Given the description of an element on the screen output the (x, y) to click on. 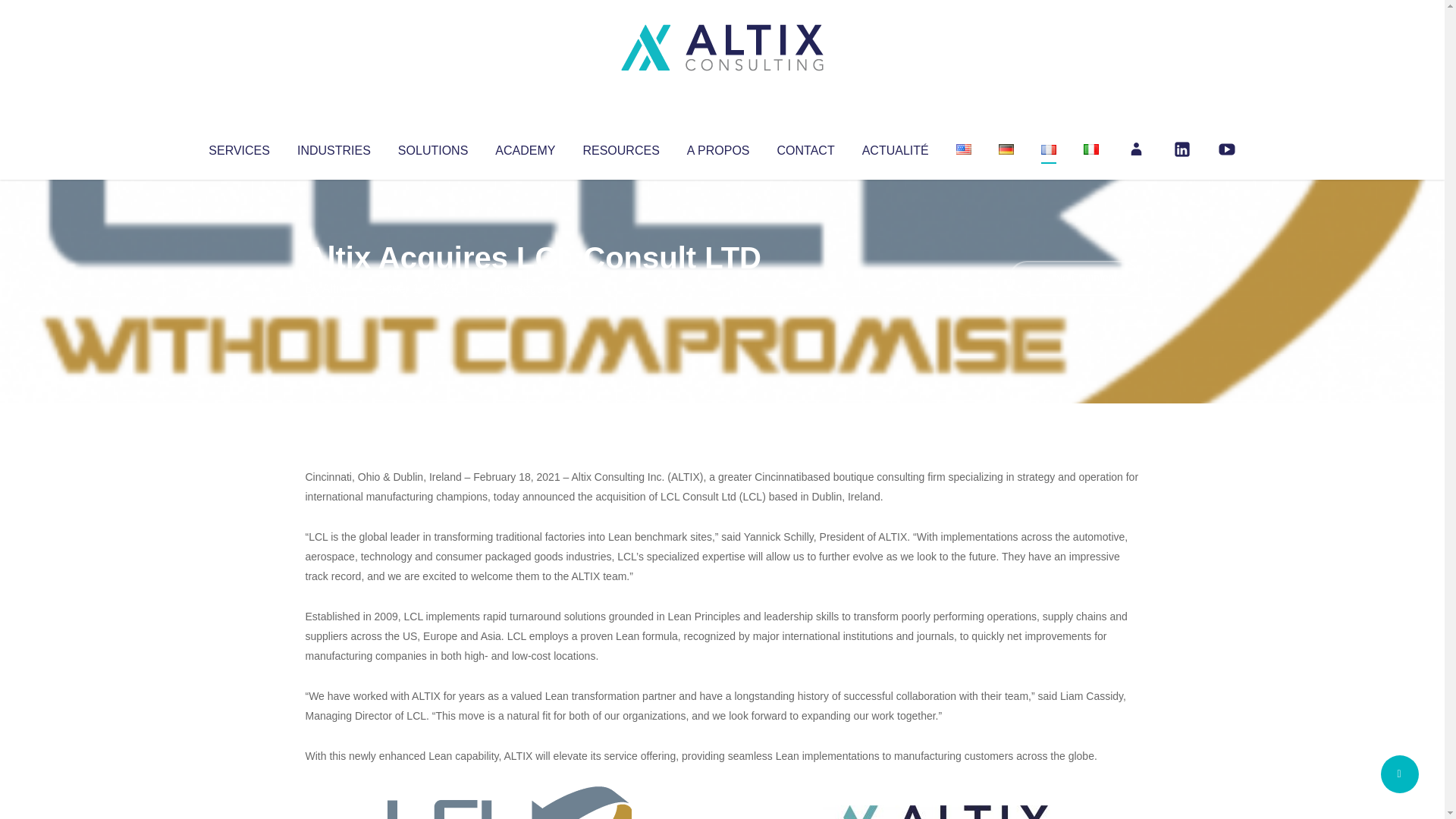
No Comments (1073, 278)
ACADEMY (524, 146)
Altix (333, 287)
INDUSTRIES (334, 146)
Uncategorized (530, 287)
SERVICES (238, 146)
SOLUTIONS (432, 146)
RESOURCES (620, 146)
A PROPOS (718, 146)
Articles par Altix (333, 287)
